Given the description of an element on the screen output the (x, y) to click on. 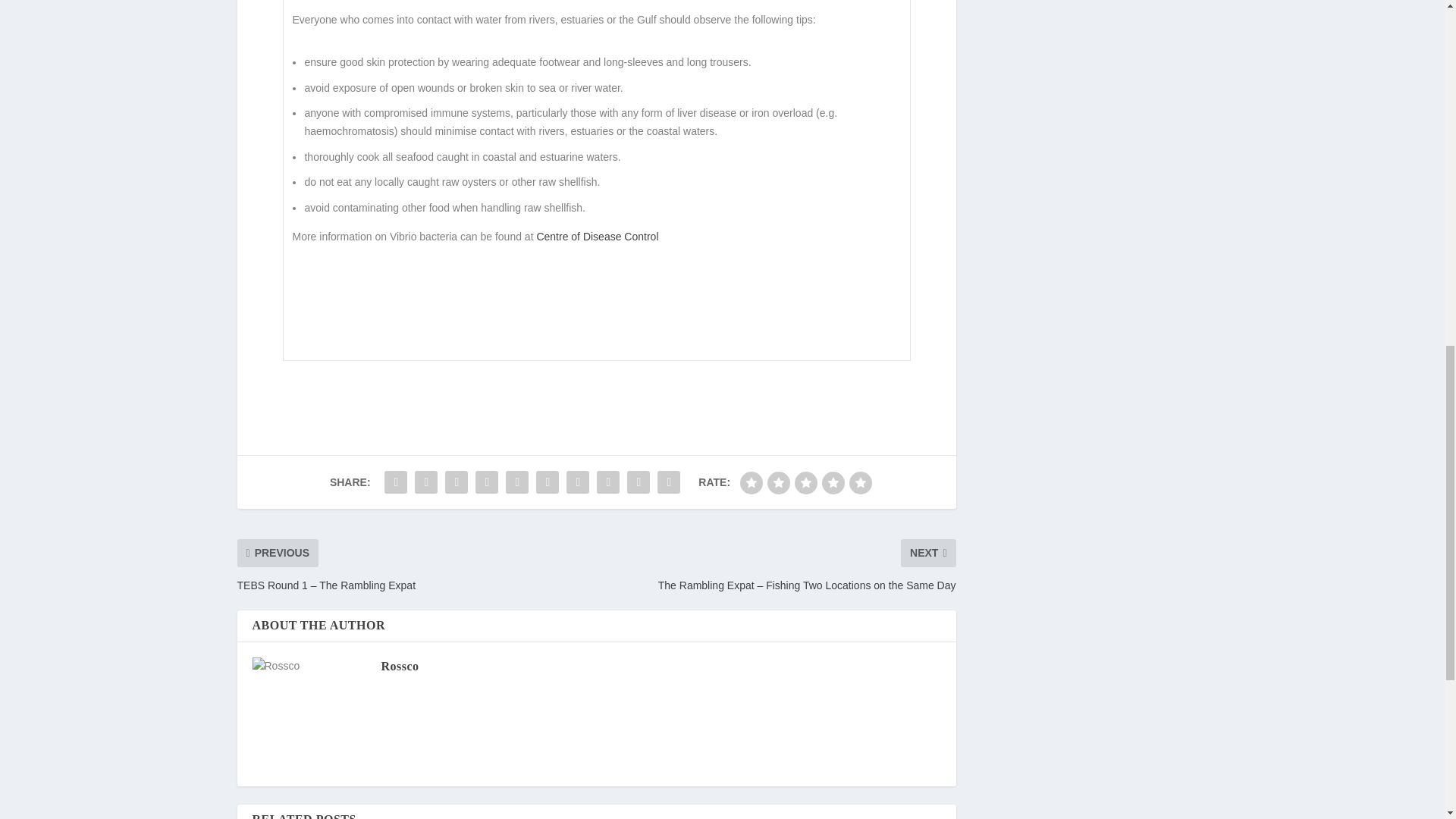
bad (750, 482)
Centre of Disease Control (596, 236)
Rossco (399, 666)
